Given the description of an element on the screen output the (x, y) to click on. 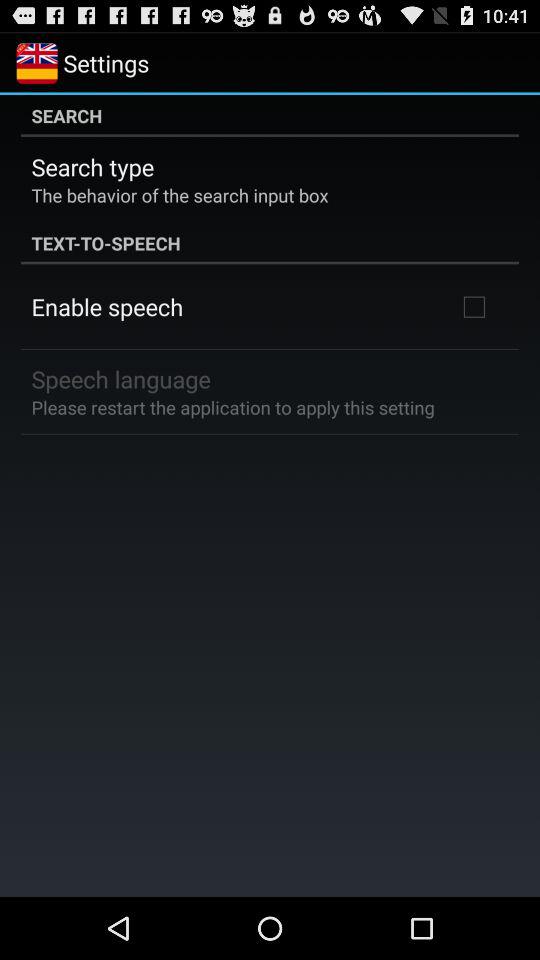
launch speech language item (120, 378)
